Given the description of an element on the screen output the (x, y) to click on. 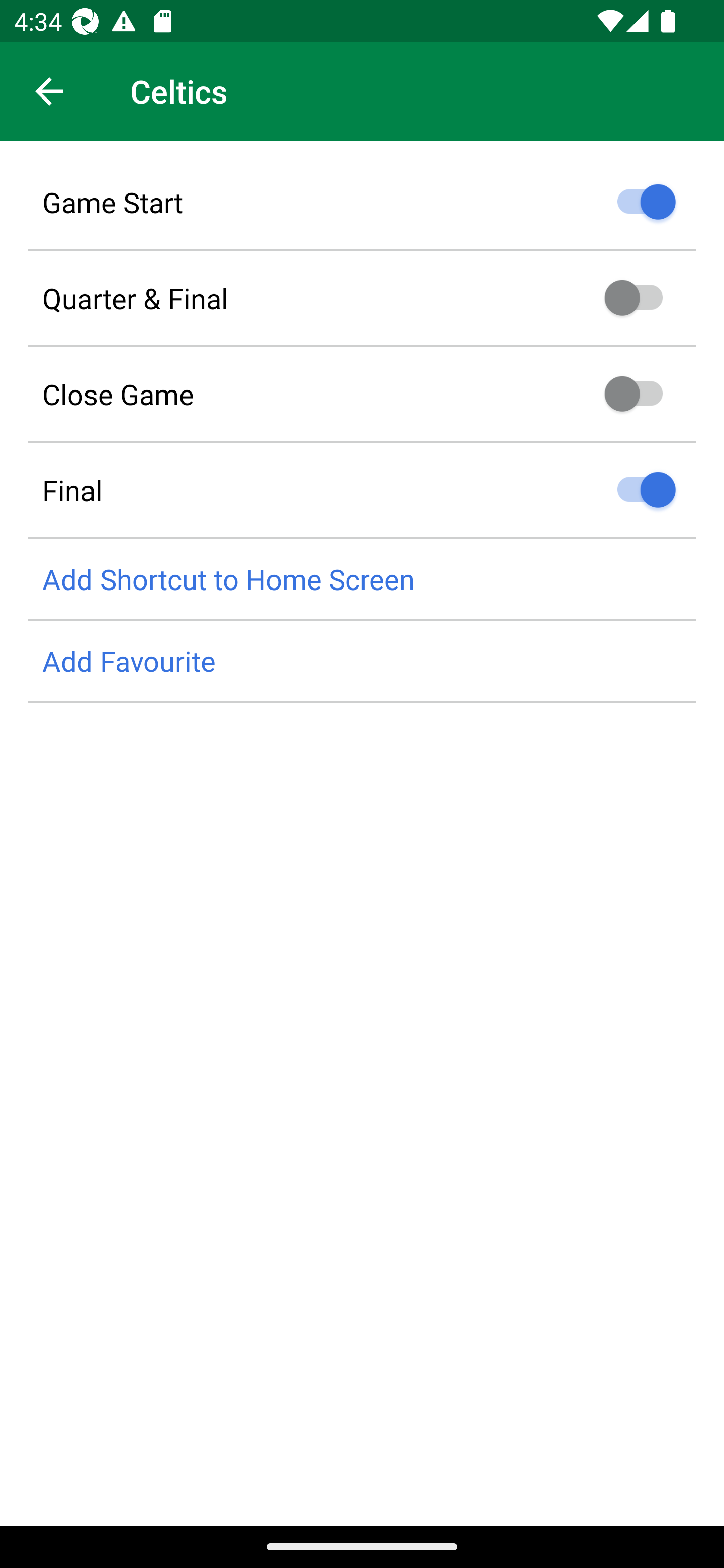
Navigate up (49, 91)
Add Shortcut to Home Screen (362, 579)
Add Favourite (362, 661)
